Given the description of an element on the screen output the (x, y) to click on. 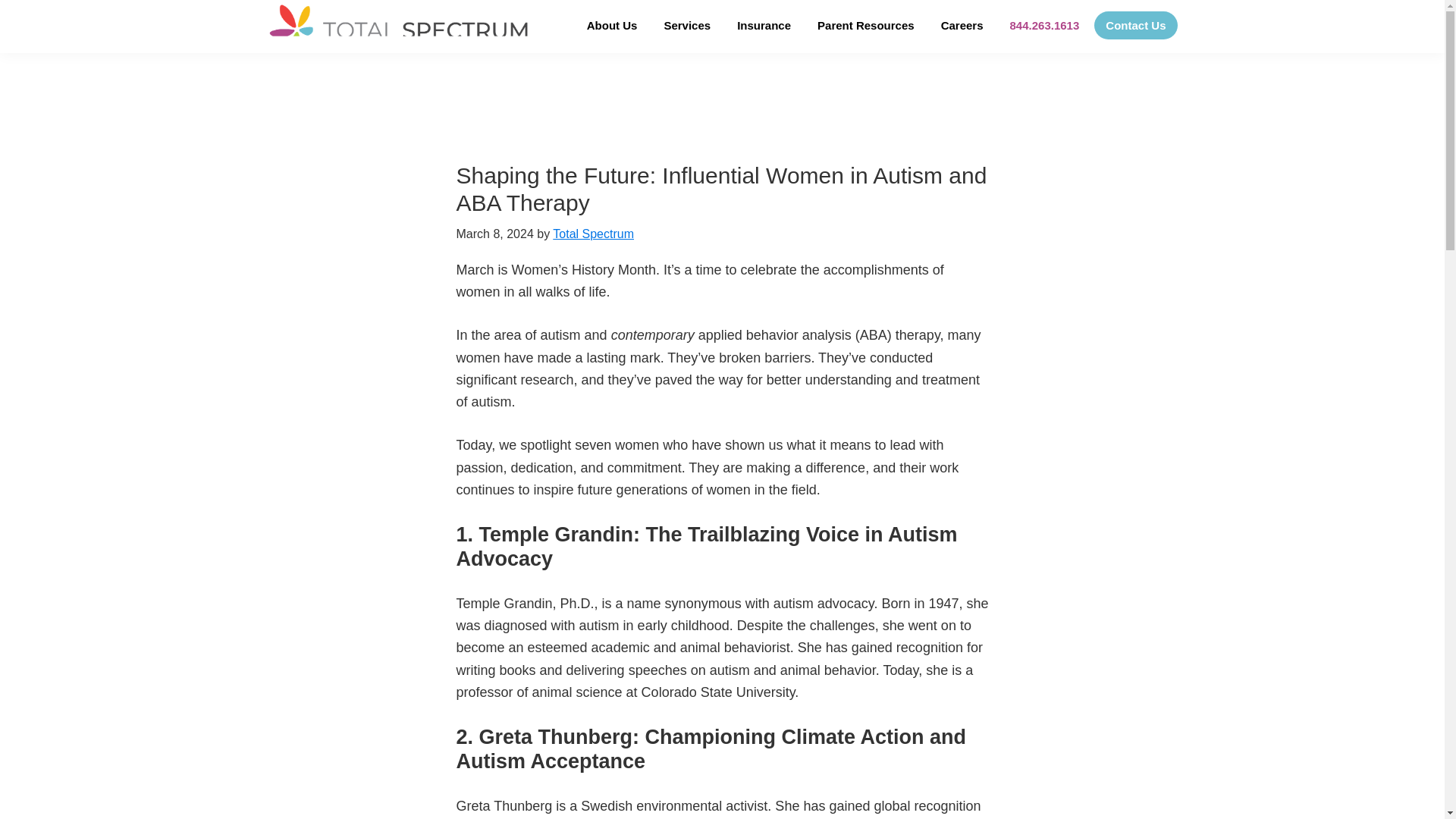
About Us (612, 25)
Parent Resources (866, 25)
Total Spectrum (593, 233)
Insurance (763, 25)
Services (687, 25)
844.263.1613 (1044, 25)
Contact Us (1135, 25)
Careers (962, 25)
